Given the description of an element on the screen output the (x, y) to click on. 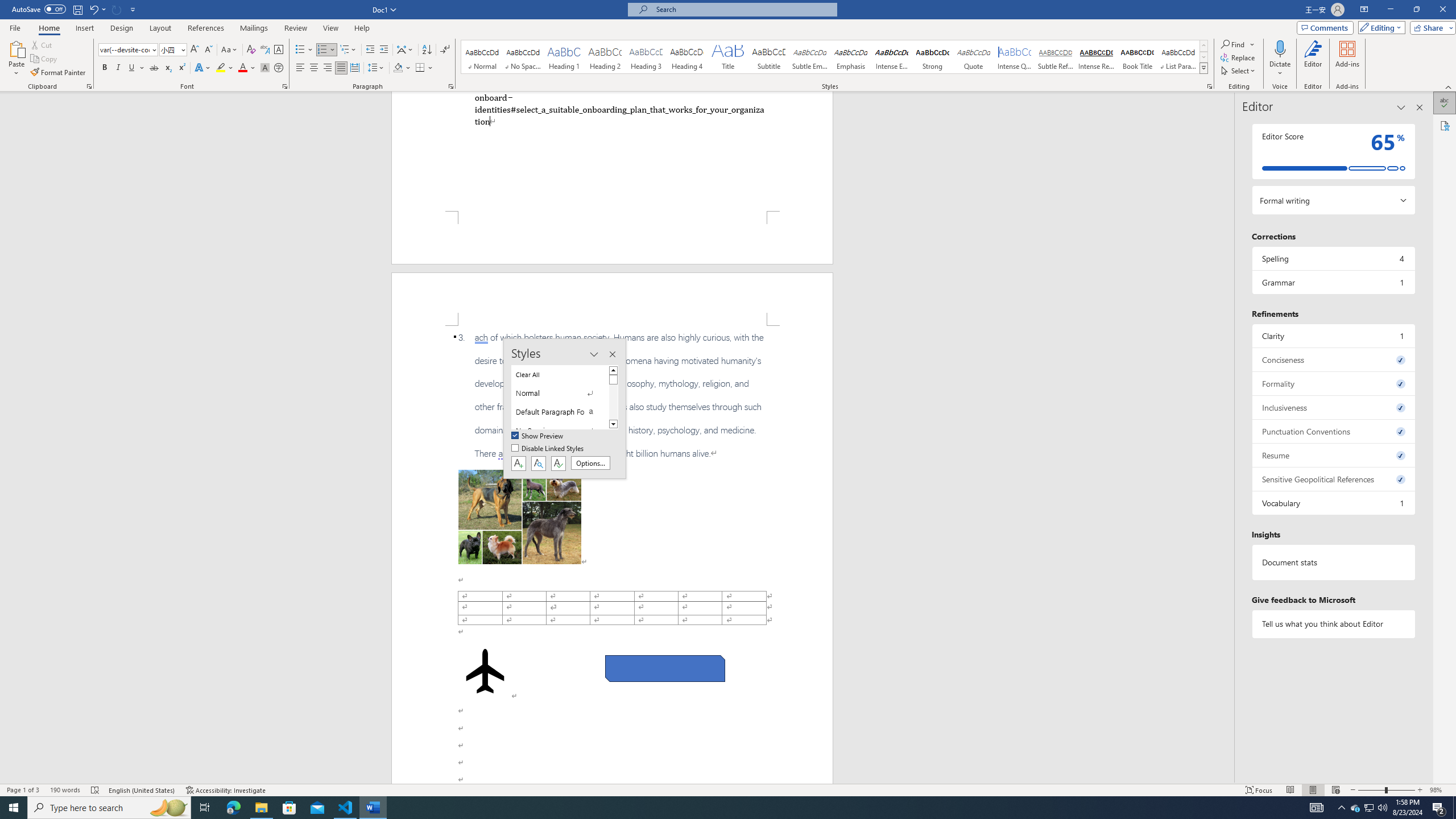
Text Highlight Color (224, 67)
Font Color Automatic (241, 67)
Minimize (1390, 9)
Title (727, 56)
Can't Repeat (117, 9)
Paste (16, 48)
Clear Formatting (250, 49)
Shading (402, 67)
Phonetic Guide... (264, 49)
Web Layout (1335, 790)
Undo Apply Quick Style (96, 9)
Text Highlight Color Yellow (220, 67)
Resume, 0 issues. Press space or enter to review items. (1333, 454)
Customize Quick Access Toolbar (133, 9)
